Given the description of an element on the screen output the (x, y) to click on. 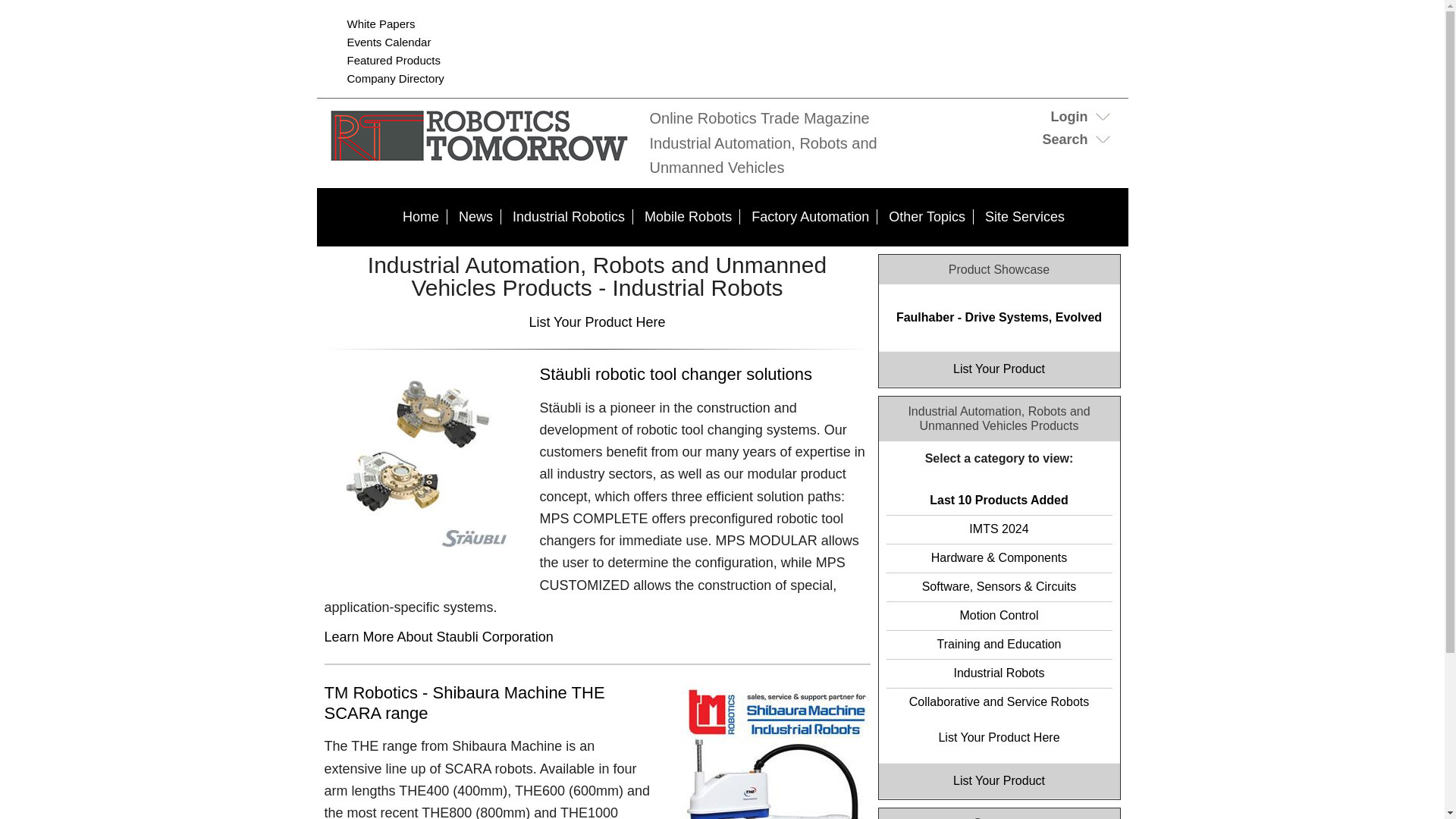
List Your Product Here (596, 322)
Collaborative and Service Robots (998, 701)
Other Topics (926, 217)
Learn More About Staubli Corporation (438, 636)
Featured Products (394, 60)
Site Services (1023, 217)
Company Directory (395, 78)
List Your Product Here (998, 737)
Motion Control (998, 615)
List Your Product (999, 368)
